Given the description of an element on the screen output the (x, y) to click on. 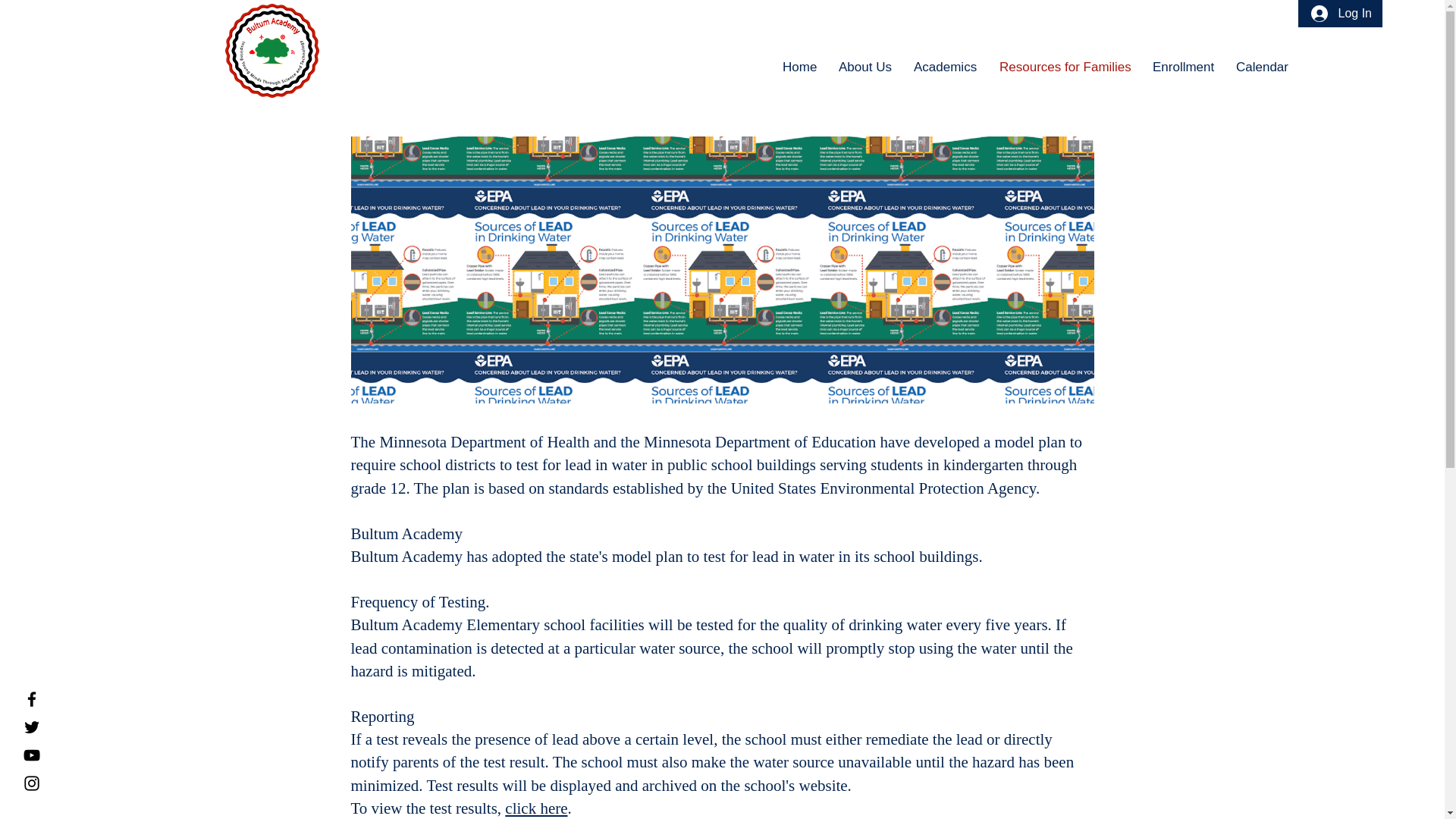
Home (799, 66)
Resources for Families (1064, 66)
Academics (945, 66)
Enrollment (1182, 66)
click here (536, 808)
About Us (864, 66)
Log In (1340, 13)
BultumLogoV3.png (271, 50)
Calendar (1261, 66)
